Given the description of an element on the screen output the (x, y) to click on. 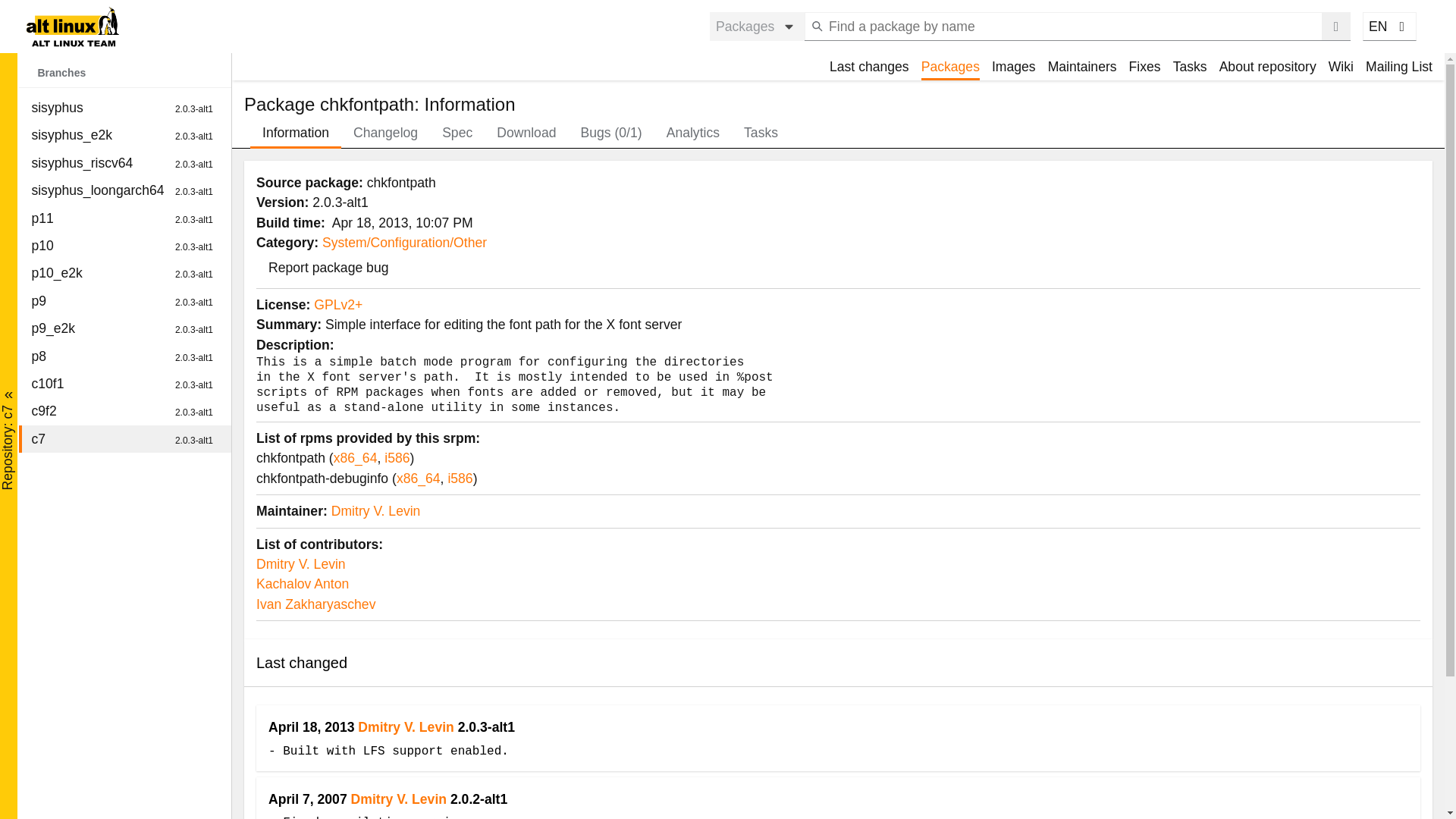
Information (124, 107)
Fixes (295, 132)
Tasks (124, 356)
p9 2.0.3-alt1 (1144, 66)
Wiki (1189, 66)
c9f2 2.0.3-alt1 (124, 300)
